Given the description of an element on the screen output the (x, y) to click on. 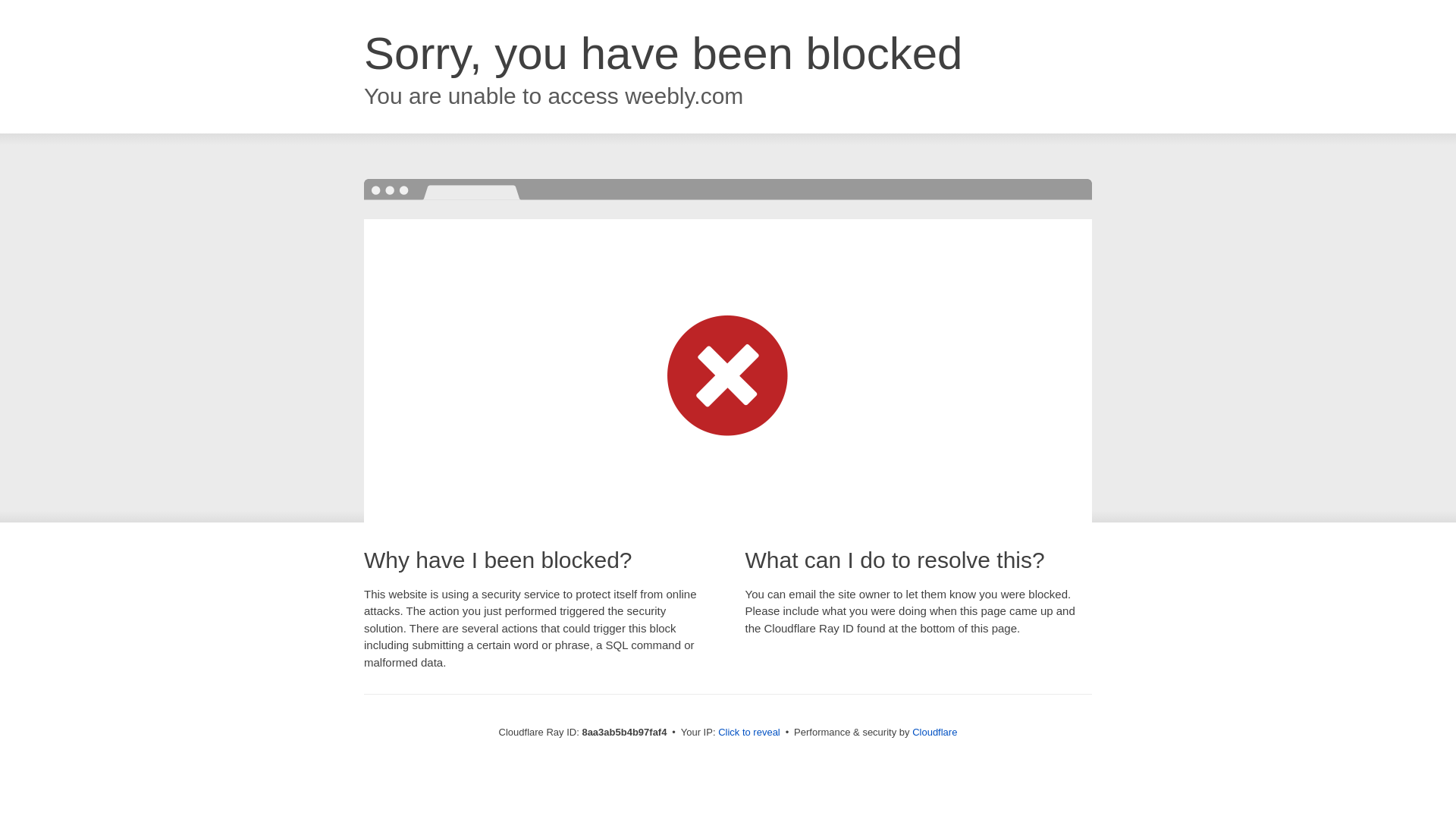
Cloudflare (934, 731)
Click to reveal (748, 732)
